Given the description of an element on the screen output the (x, y) to click on. 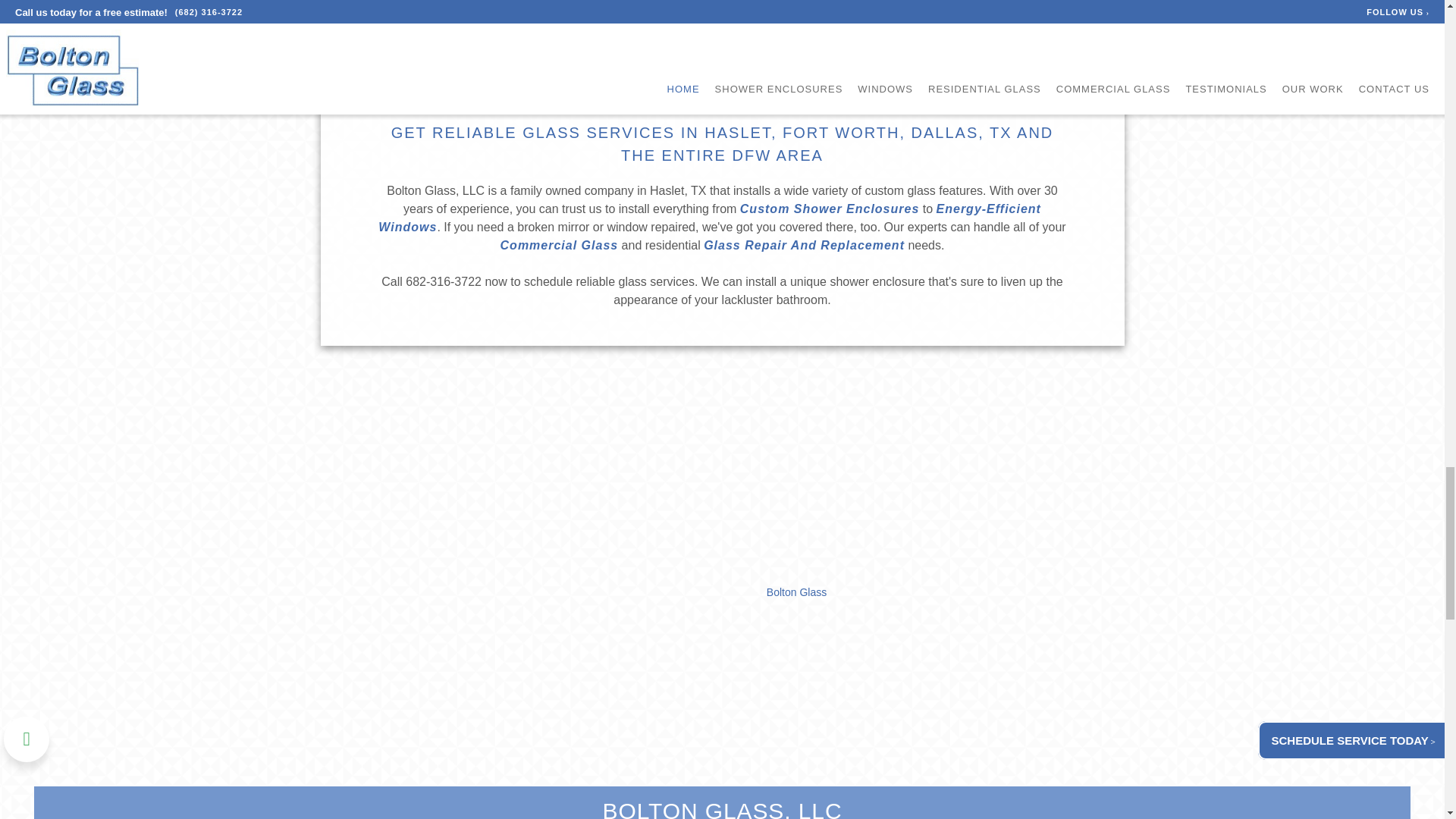
Commercial Glass (559, 245)
Custom Shower Enclosures (829, 208)
Glass Repair And Replacement (803, 245)
Energy-Efficient Windows (709, 217)
